Given the description of an element on the screen output the (x, y) to click on. 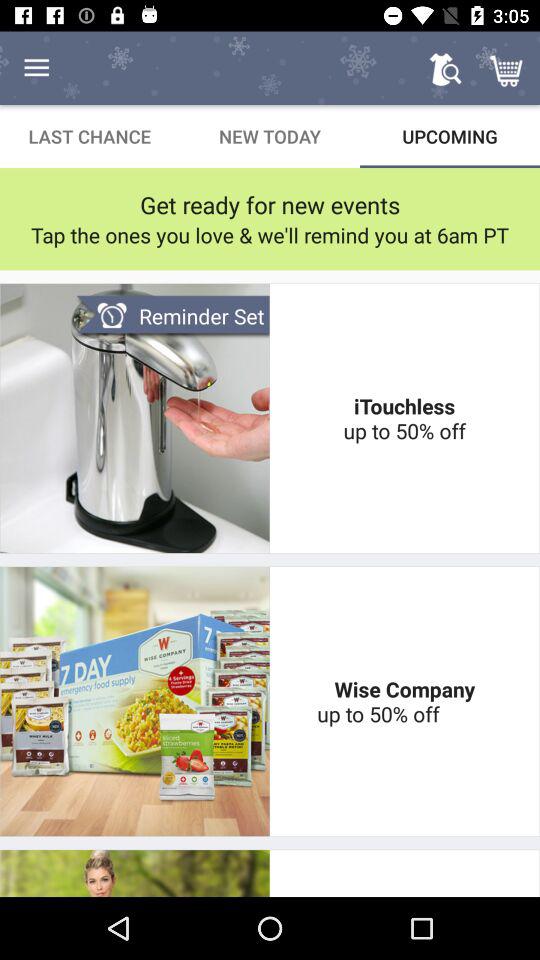
flip until the reminder set item (171, 316)
